Given the description of an element on the screen output the (x, y) to click on. 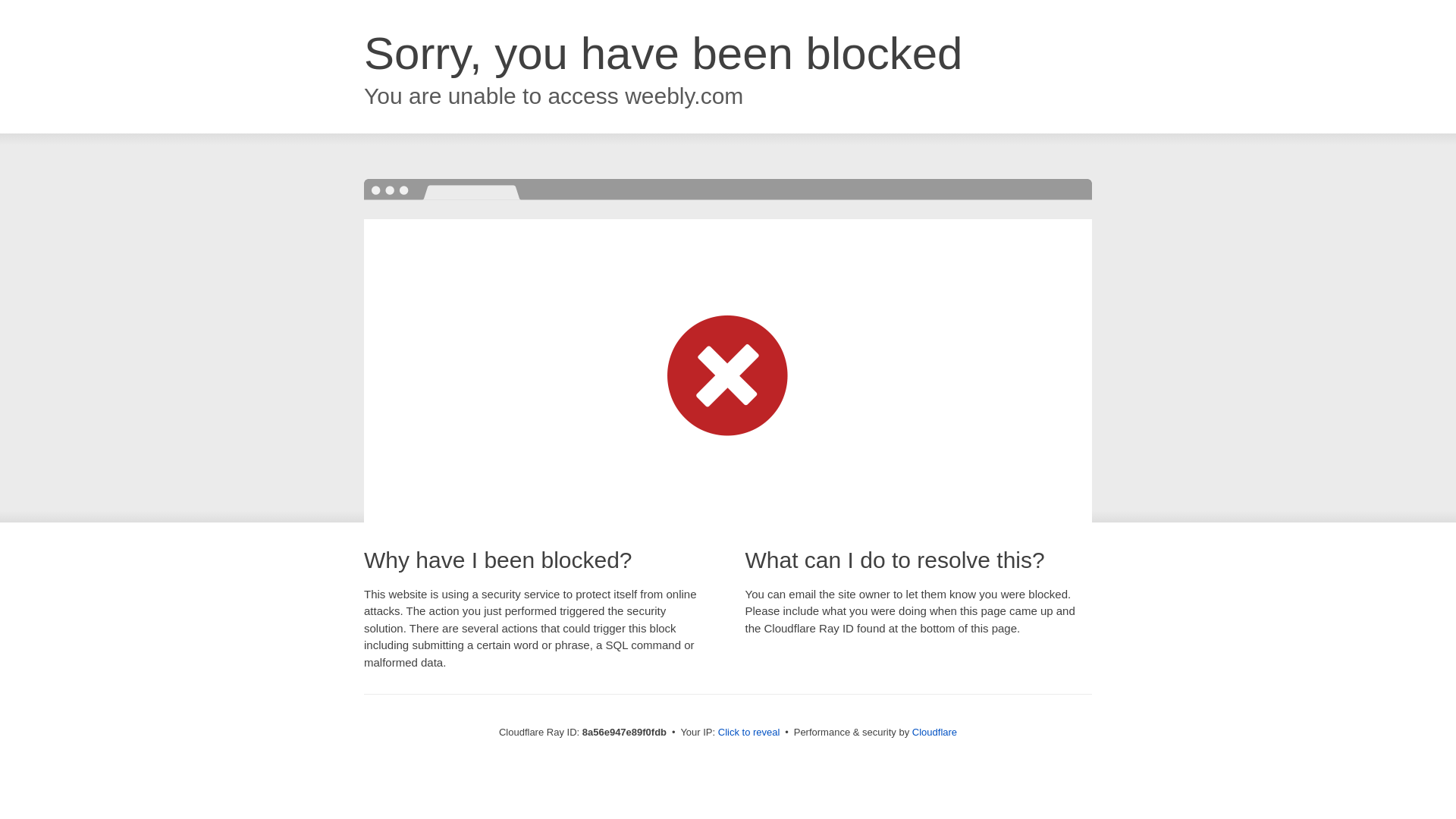
Cloudflare (934, 731)
Click to reveal (748, 732)
